Given the description of an element on the screen output the (x, y) to click on. 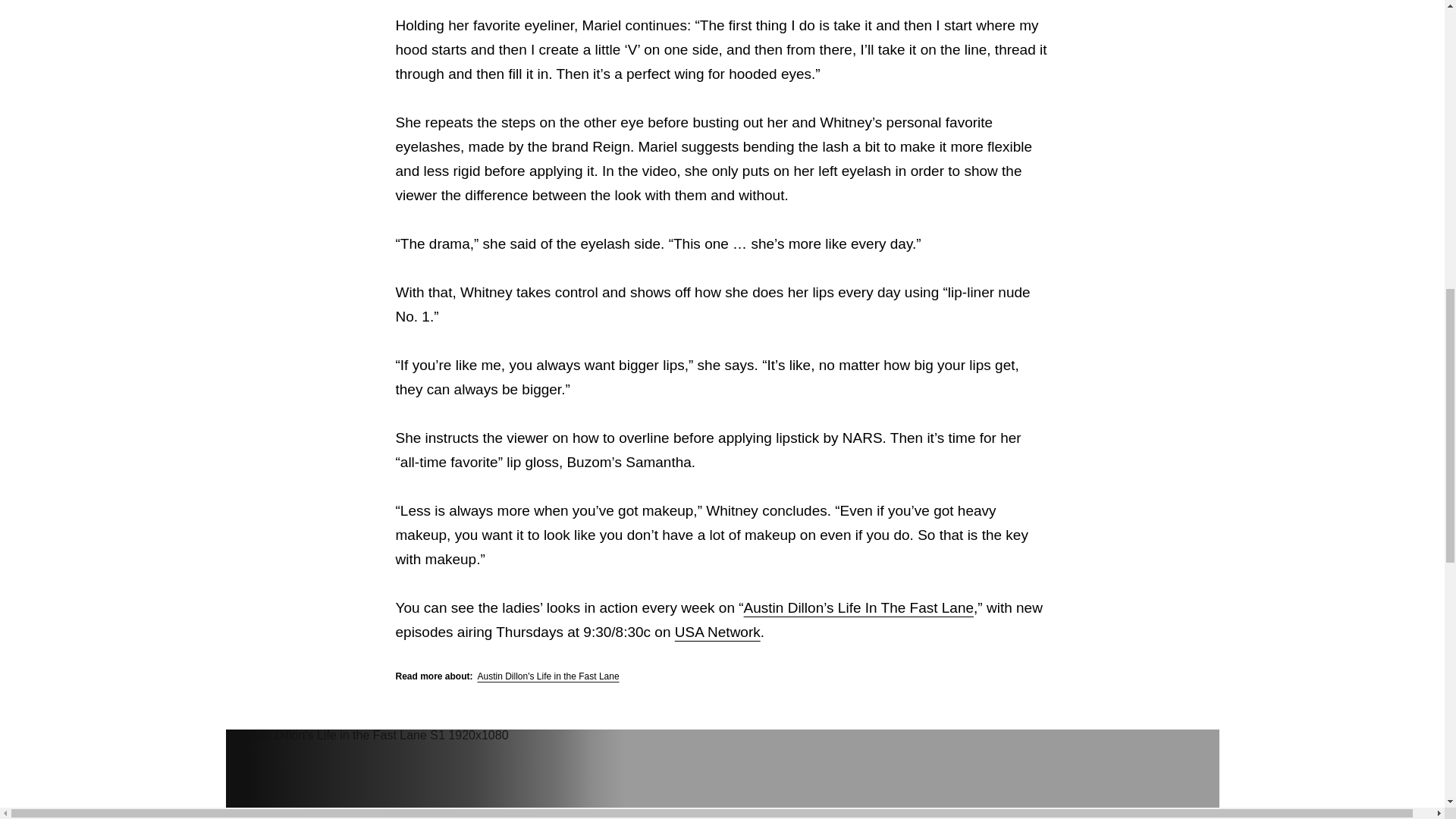
Austin Dillon's Life in the Fast Lane (548, 675)
USA Network (717, 631)
